Given the description of an element on the screen output the (x, y) to click on. 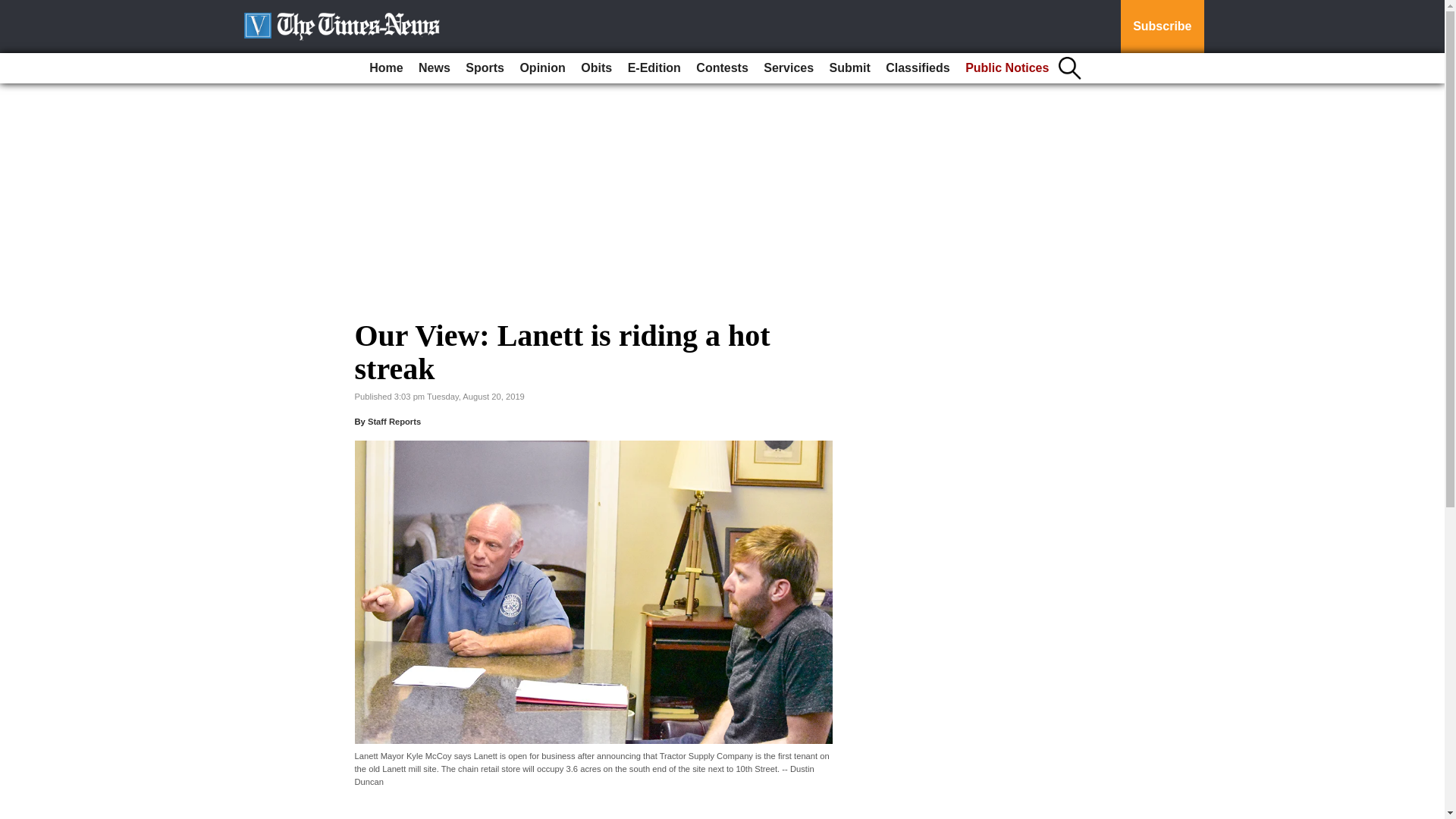
Obits (596, 68)
Services (788, 68)
Public Notices (1006, 68)
E-Edition (654, 68)
Subscribe (1162, 26)
Staff Reports (394, 420)
Home (385, 68)
Sports (485, 68)
Opinion (541, 68)
Contests (722, 68)
Submit (850, 68)
Classifieds (917, 68)
News (434, 68)
Go (13, 9)
